Given the description of an element on the screen output the (x, y) to click on. 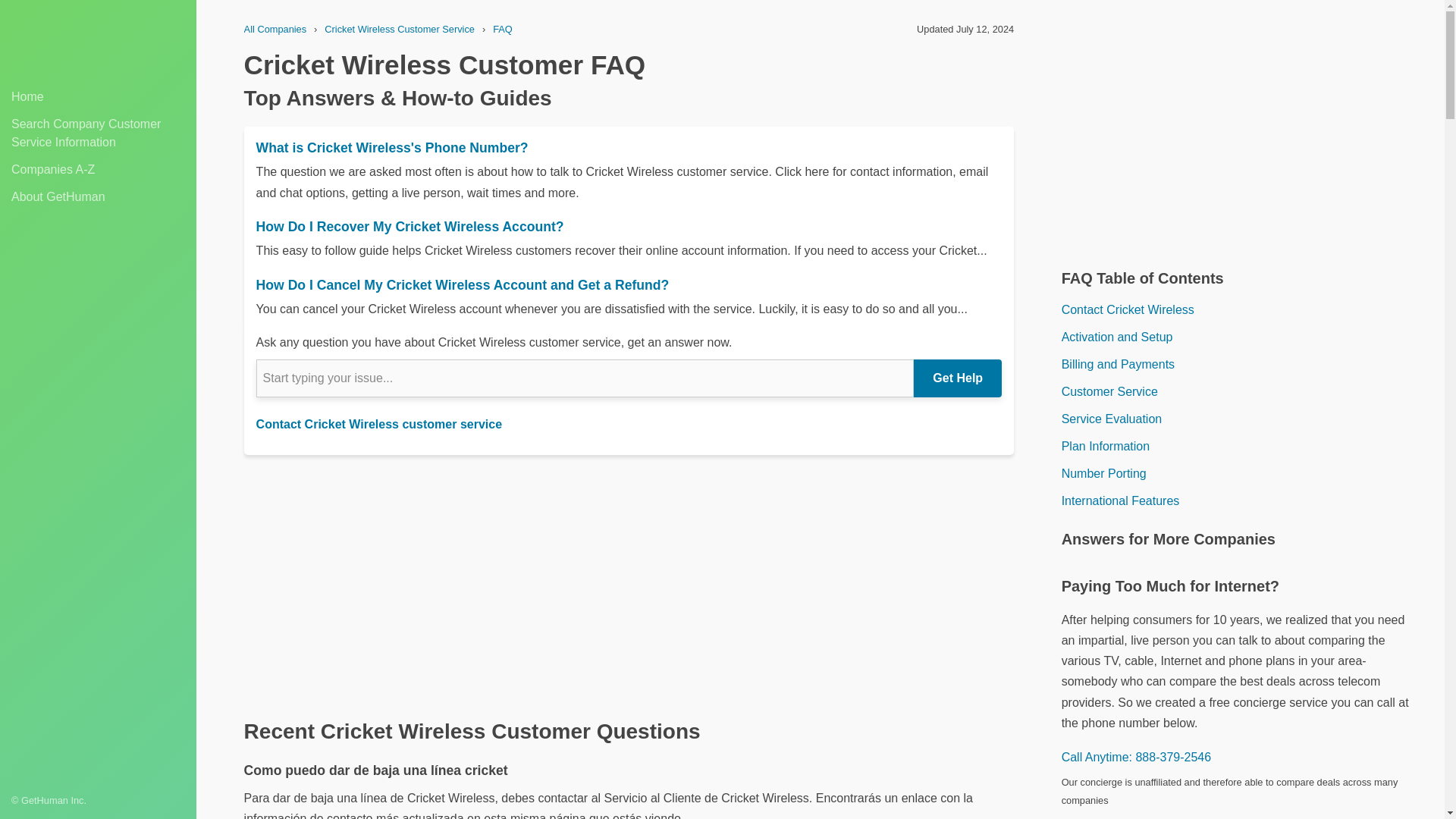
Search Company Customer Service Information (97, 133)
About GetHuman (97, 197)
What is Cricket Wireless's Phone Number? (629, 147)
All Companies (275, 29)
How Do I Recover My Cricket Wireless Account? (629, 226)
Get Help (957, 378)
Home (97, 96)
Companies A-Z (97, 169)
Cricket Wireless Customer Service (399, 29)
Contact Cricket Wireless customer service (379, 423)
